Given the description of an element on the screen output the (x, y) to click on. 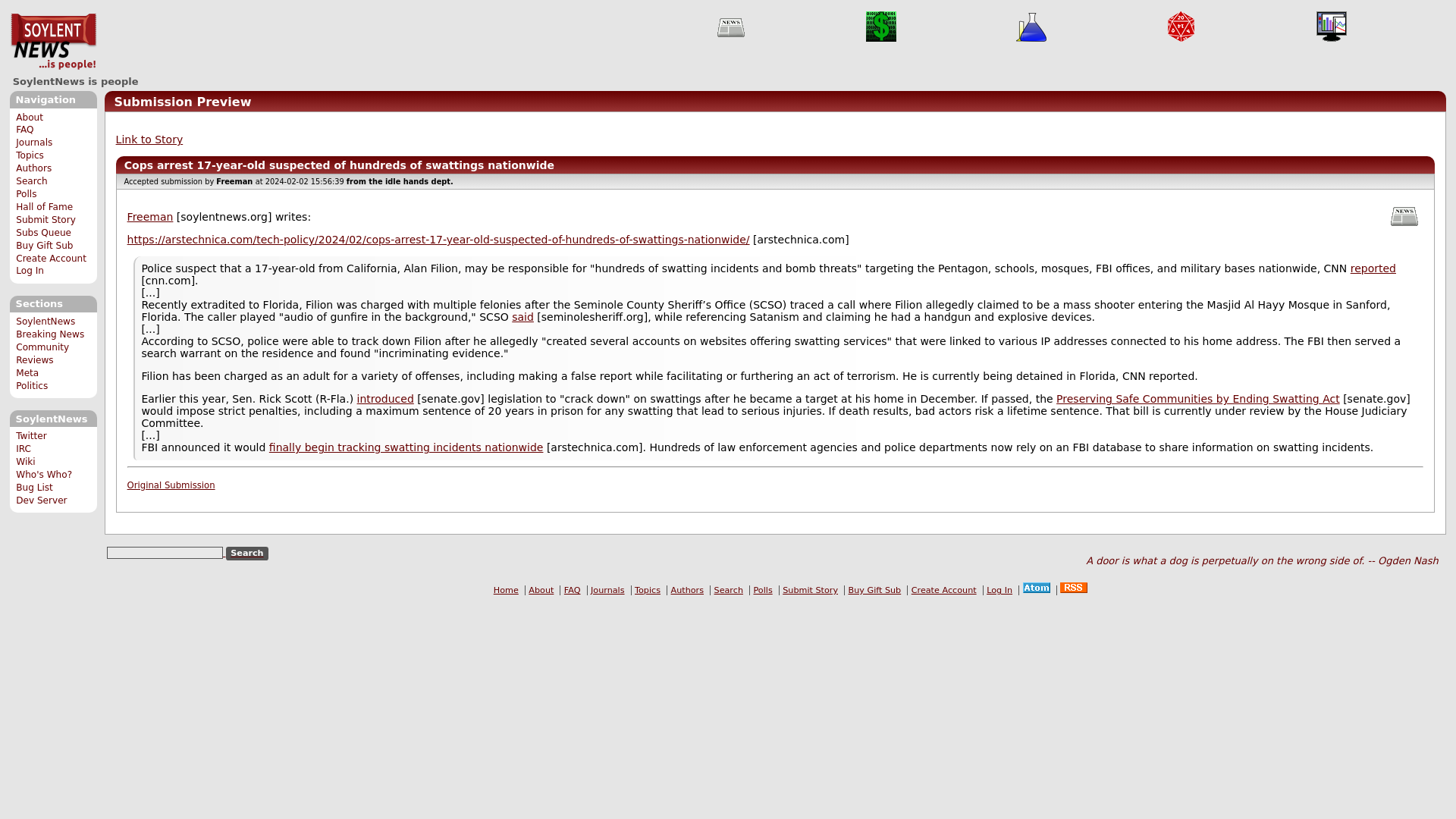
Journals (34, 142)
Science (1031, 26)
Hall of Fame (44, 206)
Submit Story (45, 219)
News (730, 26)
seminolesheriff.org (523, 316)
SoylentNews (45, 321)
Techonomics (881, 26)
About (29, 117)
Politics (32, 385)
